Given the description of an element on the screen output the (x, y) to click on. 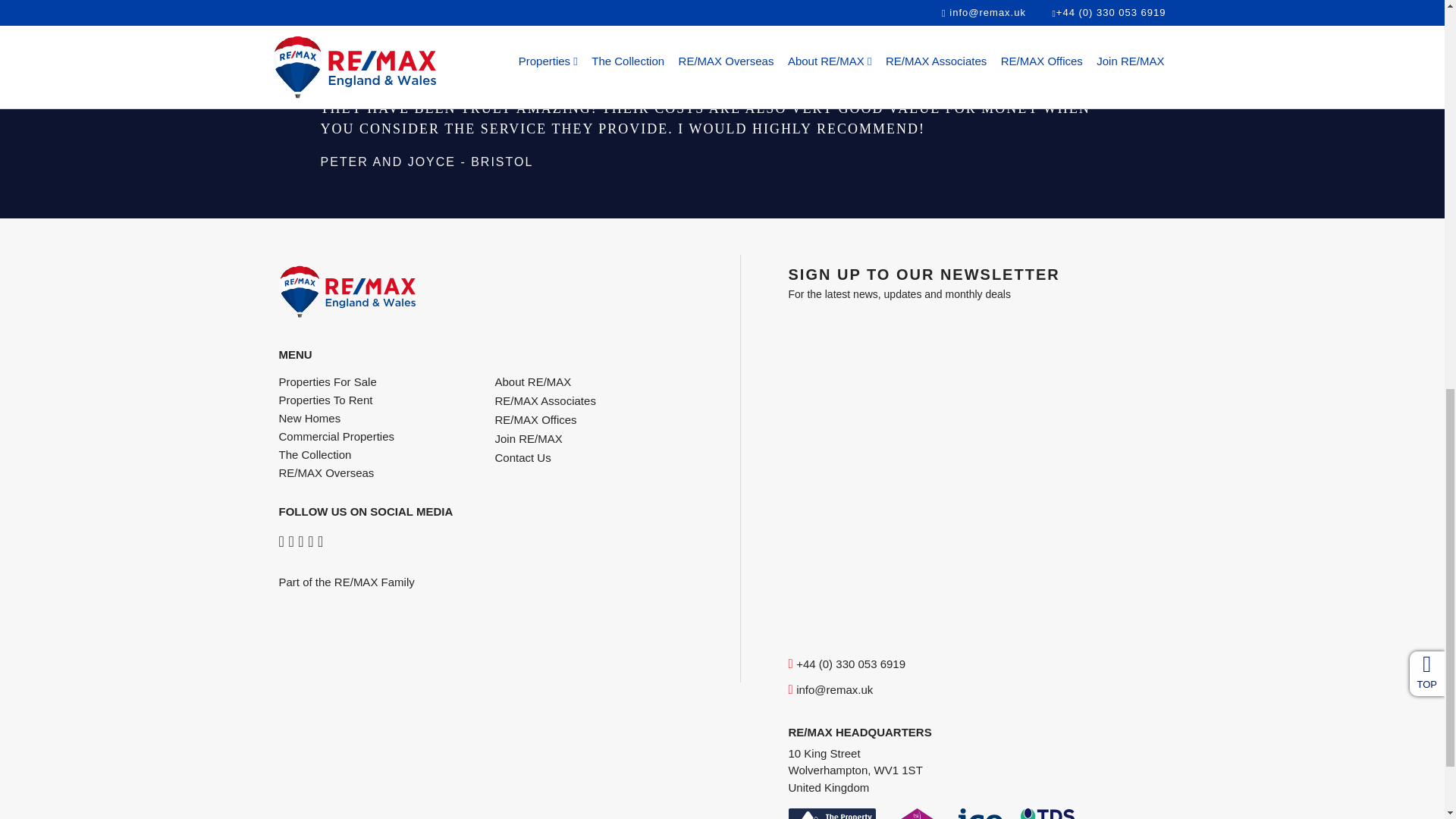
Form 0 (977, 471)
